Given the description of an element on the screen output the (x, y) to click on. 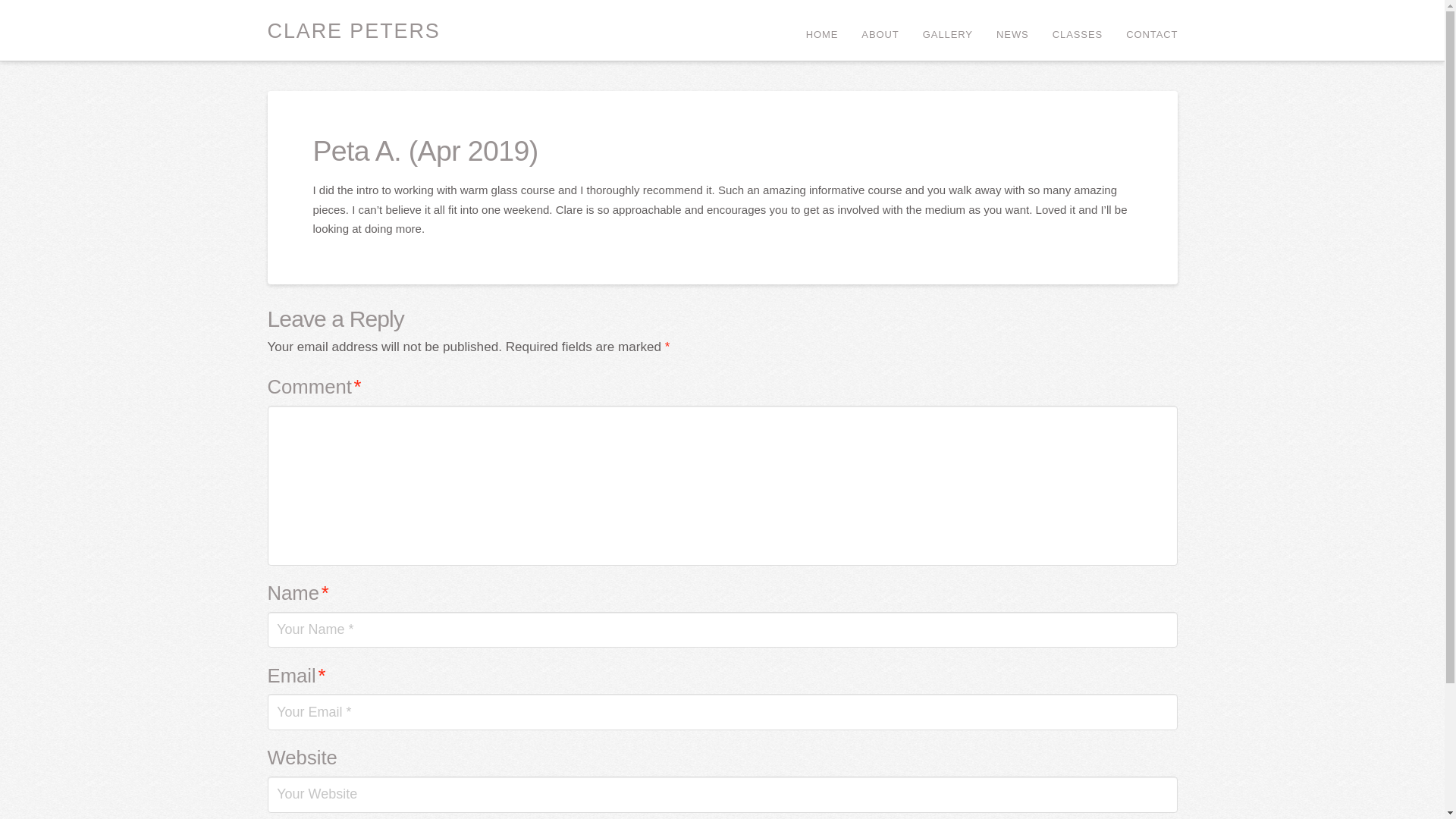
CLASSES (1077, 30)
NEWS (1012, 30)
CLARE PETERS (352, 31)
GALLERY (947, 30)
HOME (821, 30)
ABOUT (879, 30)
CONTACT (1144, 30)
